Given the description of an element on the screen output the (x, y) to click on. 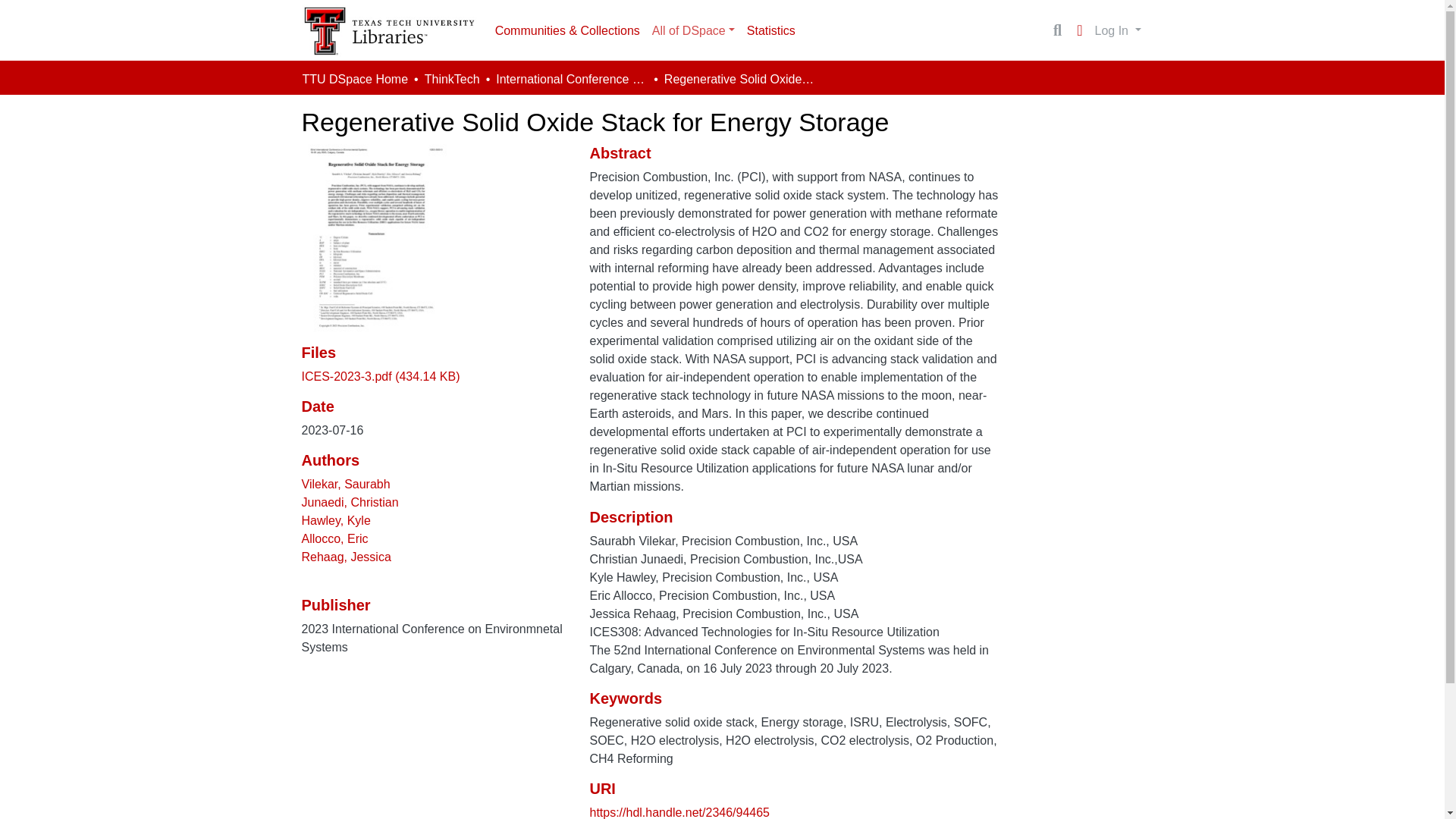
TTU DSpace Home (354, 79)
Language switch (1079, 30)
Log In (1117, 30)
Allocco, Eric (334, 538)
All of DSpace (693, 30)
Junaedi, Christian (349, 502)
Search (1057, 30)
Statistics (771, 30)
ThinkTech (452, 79)
Statistics (771, 30)
